Given the description of an element on the screen output the (x, y) to click on. 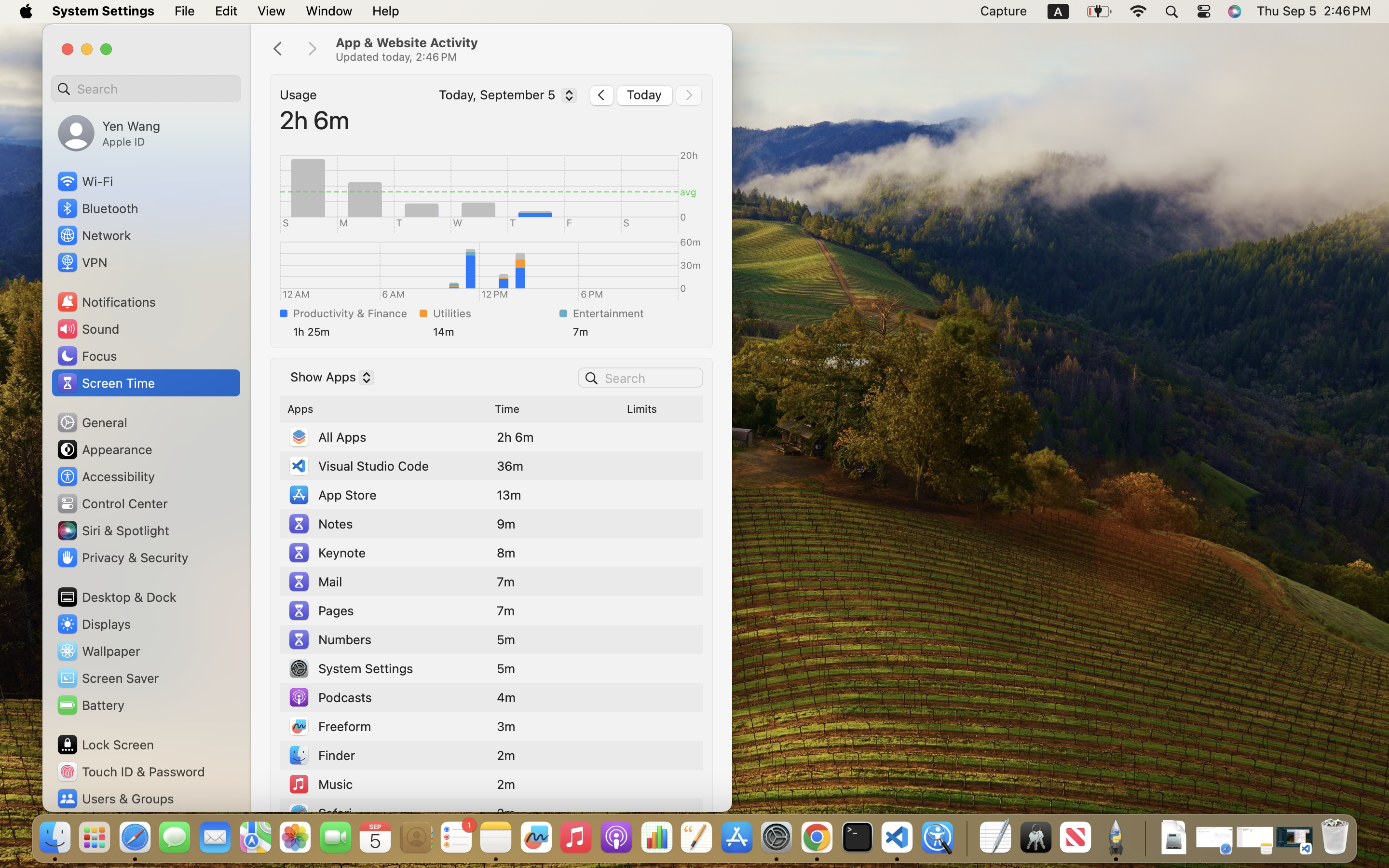
Appearance Element type: AXStaticText (103, 449)
Yen Wang, Apple ID Element type: AXStaticText (108, 132)
Visual Studio Code Element type: AXStaticText (358, 465)
4m Element type: AXStaticText (506, 697)
14m Element type: AXStaticText (494, 331)
